Given the description of an element on the screen output the (x, y) to click on. 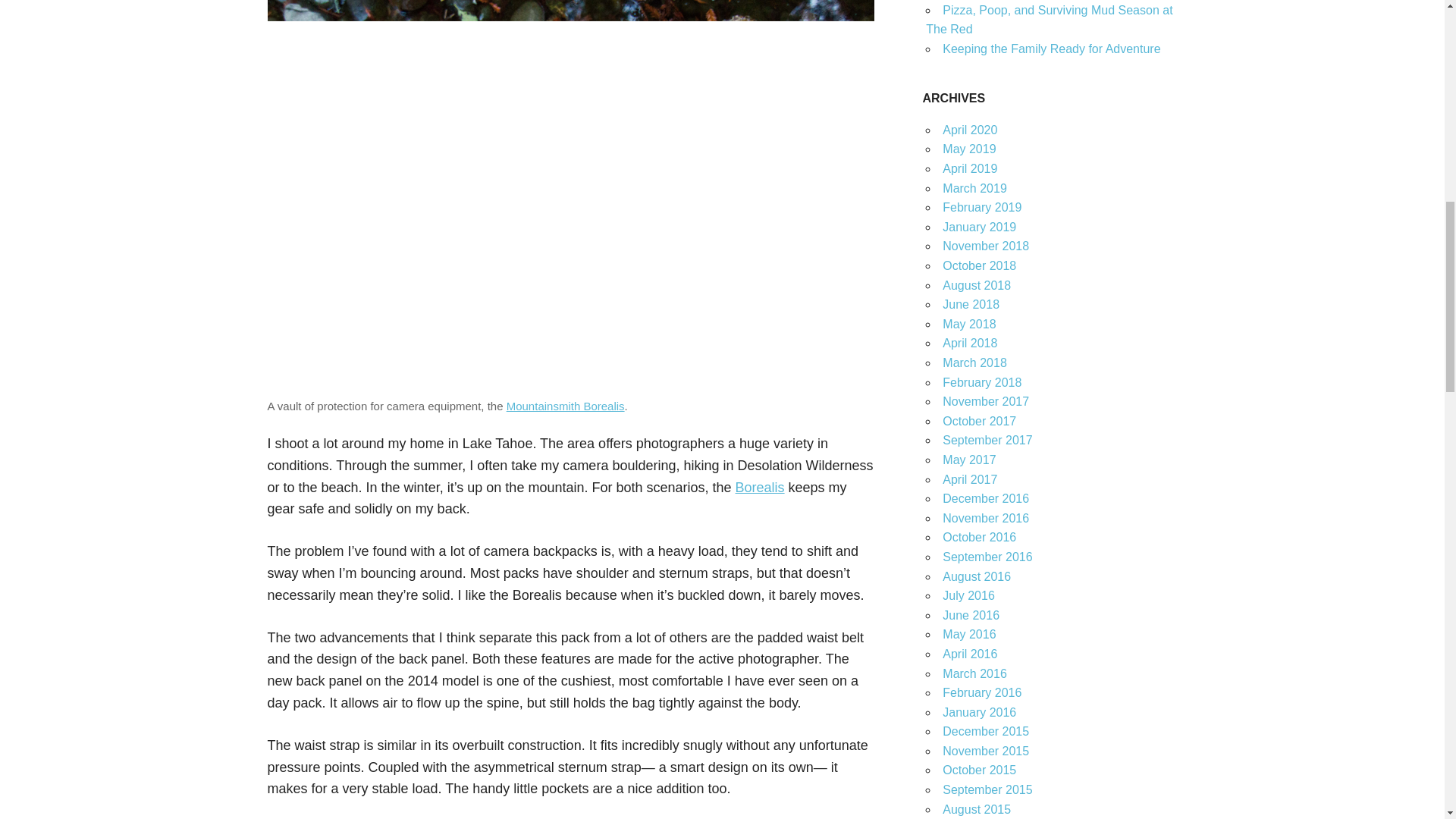
May 2019 (968, 148)
Borealis (759, 487)
April 2019 (969, 168)
Keeping the Family Ready for Adventure (1051, 48)
Mountainsmith Borealis (565, 405)
March 2019 (974, 187)
Pizza, Poop, and Surviving Mud Season at The Red (1049, 20)
April 2020 (969, 129)
February 2019 (982, 206)
January 2019 (979, 226)
